Given the description of an element on the screen output the (x, y) to click on. 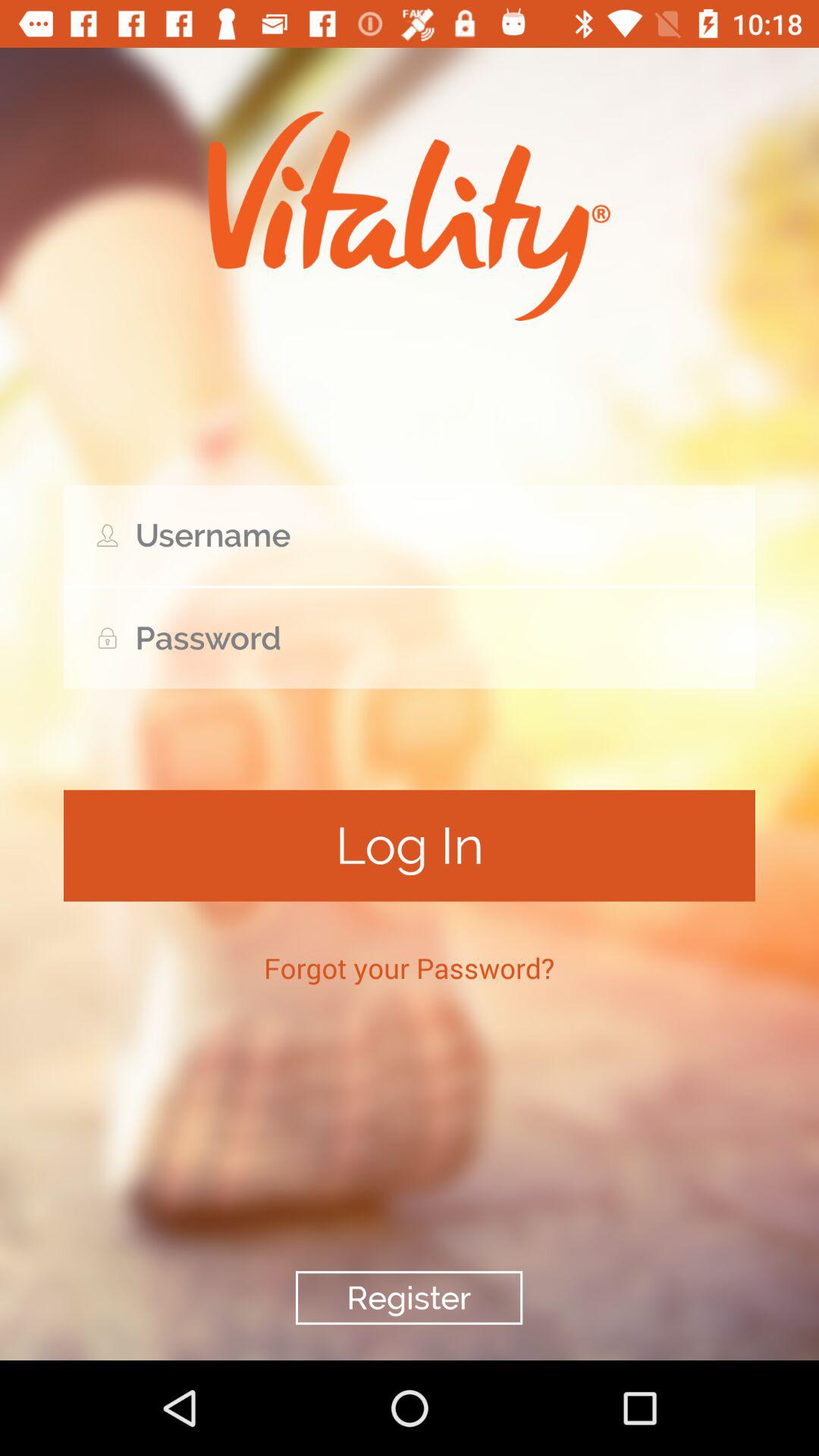
toggle lock (409, 638)
